Given the description of an element on the screen output the (x, y) to click on. 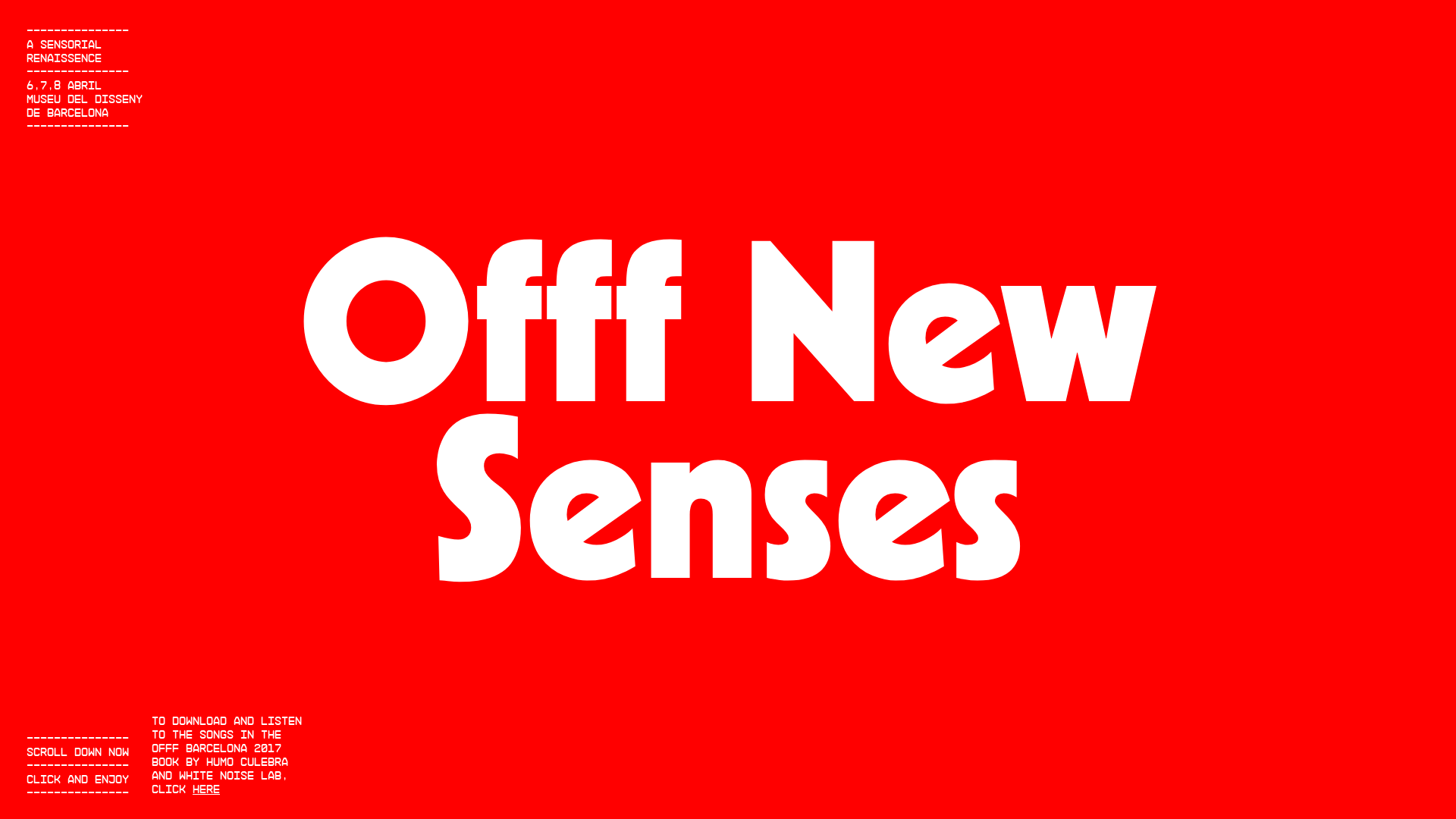
here Element type: text (205, 788)
